Given the description of an element on the screen output the (x, y) to click on. 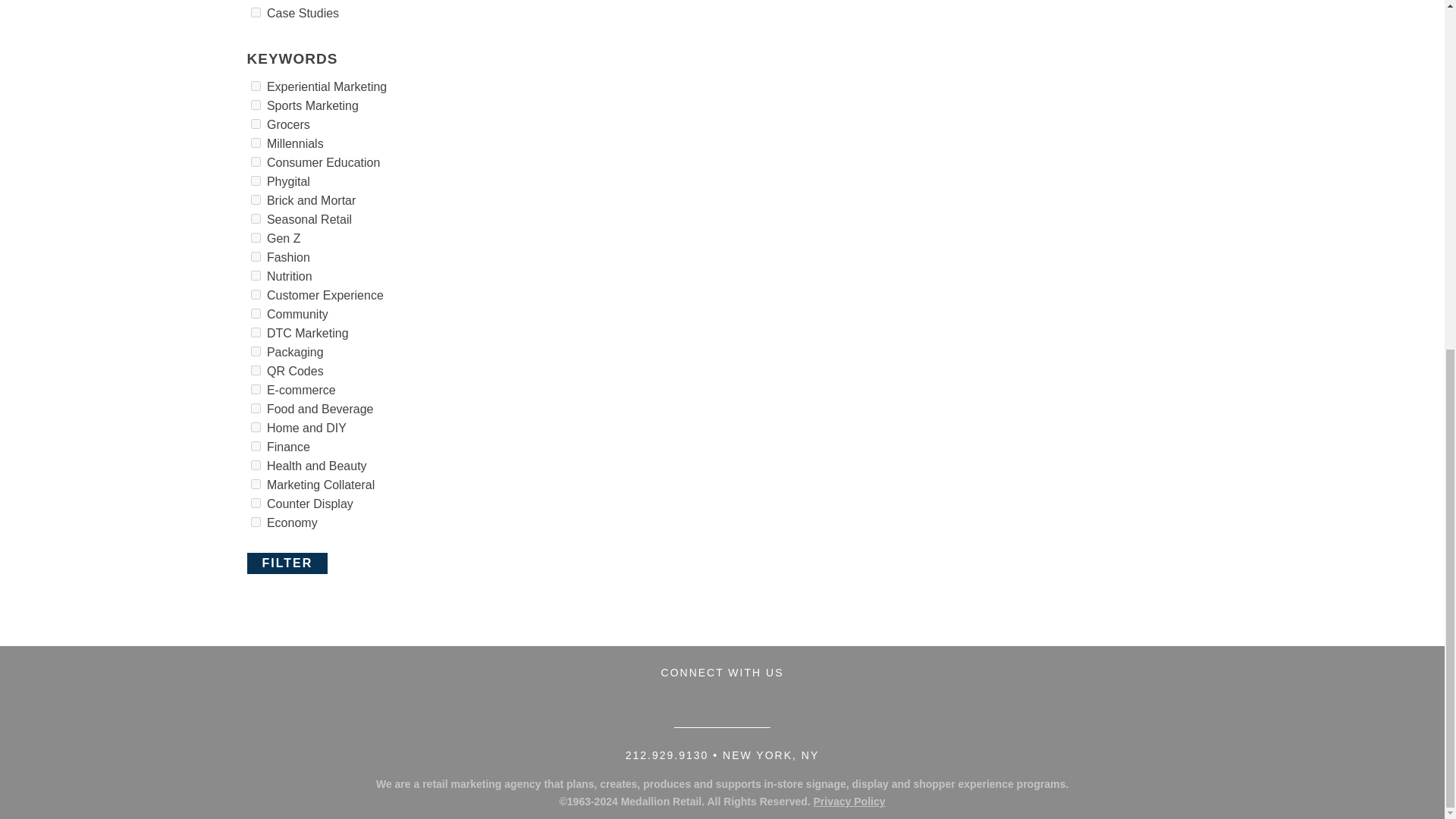
266 (256, 85)
Privacy Policy (849, 801)
Filter (288, 563)
470 (256, 12)
212.929.9130 (667, 755)
